Given the description of an element on the screen output the (x, y) to click on. 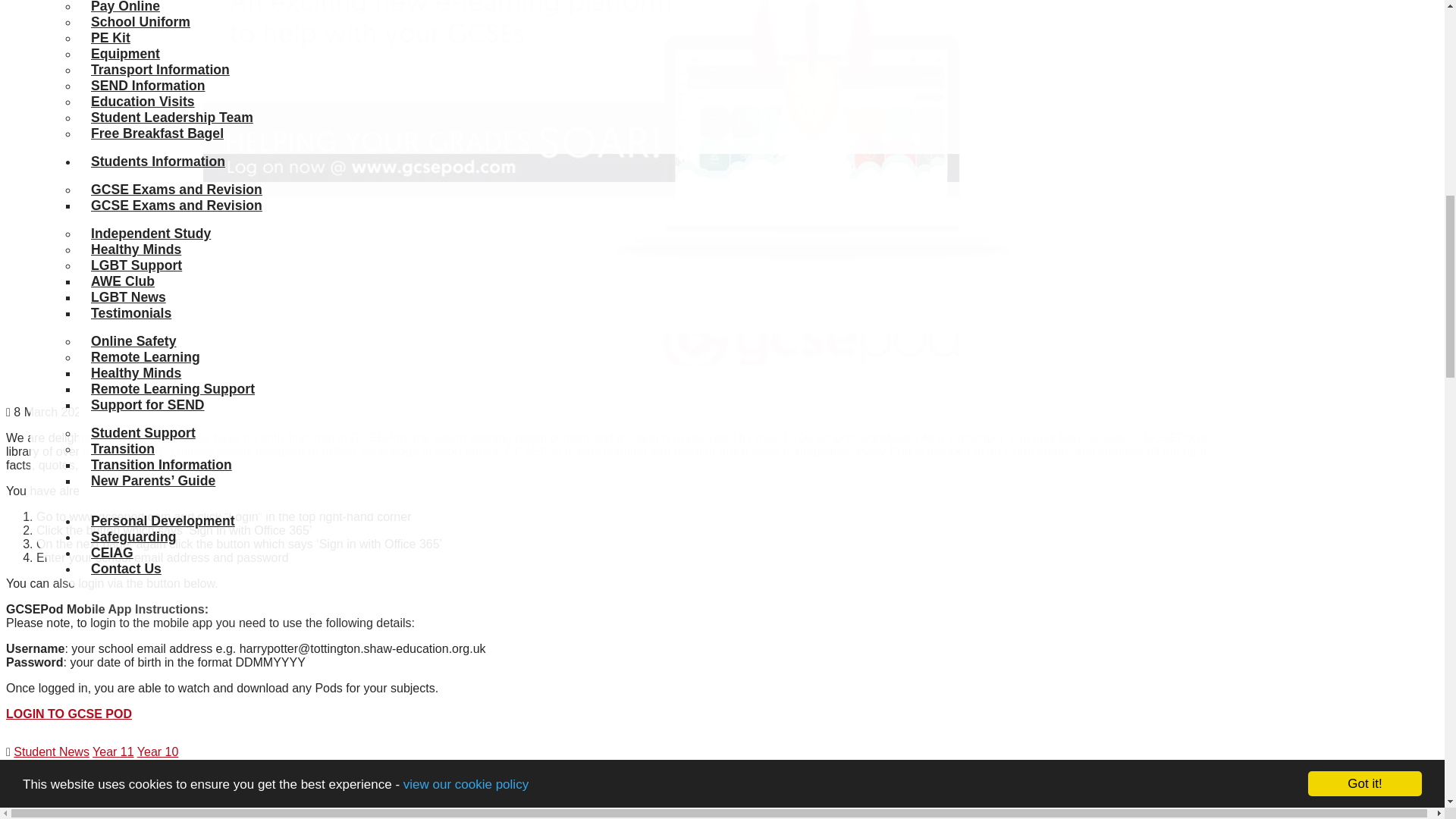
Post on X (129, 816)
Share on Facebook (44, 816)
Got it! (1364, 33)
view our cookie policy (465, 24)
